Given the description of an element on the screen output the (x, y) to click on. 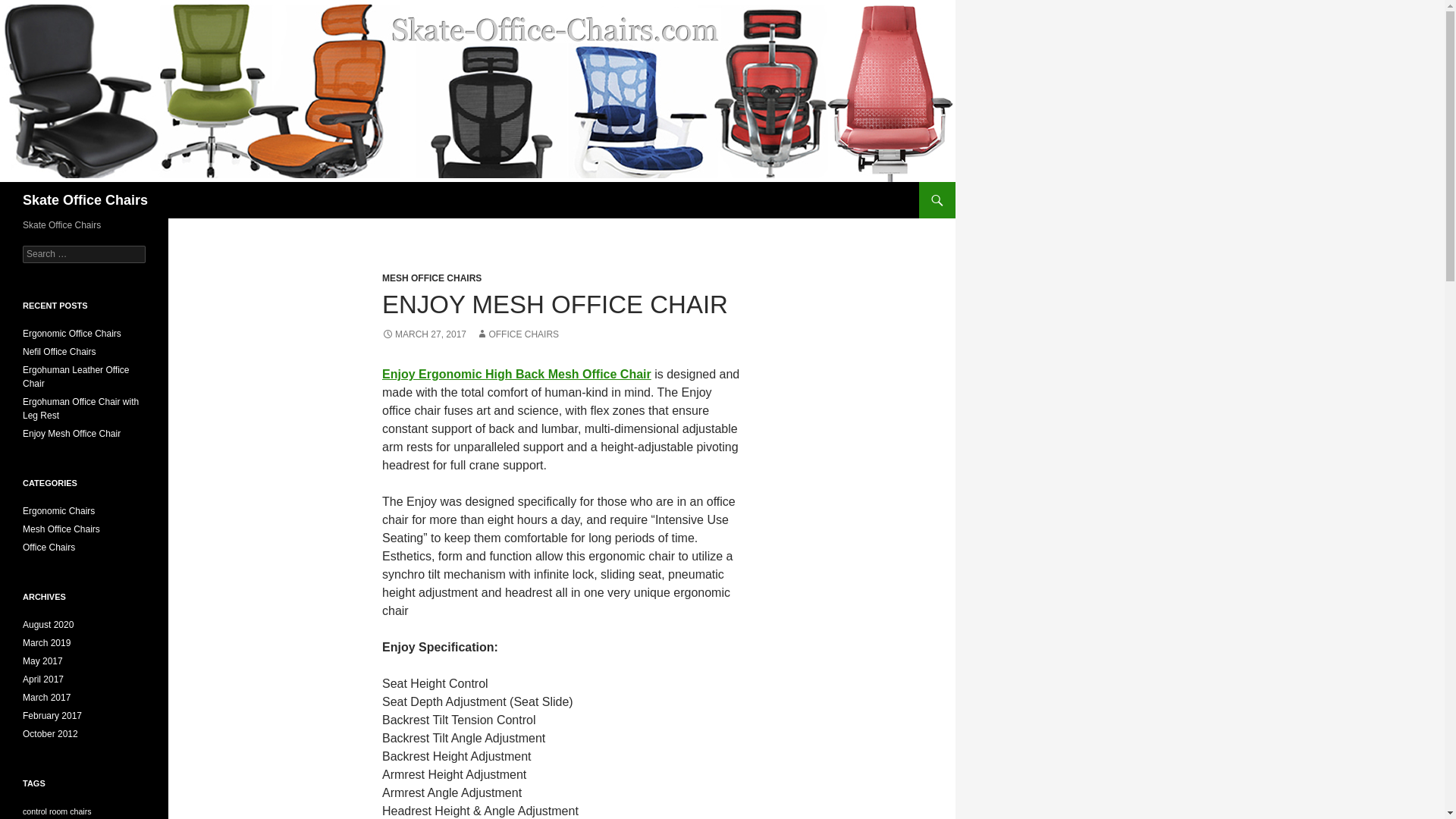
MESH OFFICE CHAIRS (431, 277)
August 2020 (48, 624)
May 2017 (42, 661)
Ergonomic Office Chairs (71, 333)
Ergohuman Leather Office Chair (76, 376)
control room chairs (57, 810)
Skate Office Chairs (85, 199)
February 2017 (52, 715)
Enjoy Mesh Office Chair (71, 433)
Search (30, 8)
Office Chairs (49, 547)
April 2017 (43, 679)
Nefil Office Chairs (59, 351)
